Given the description of an element on the screen output the (x, y) to click on. 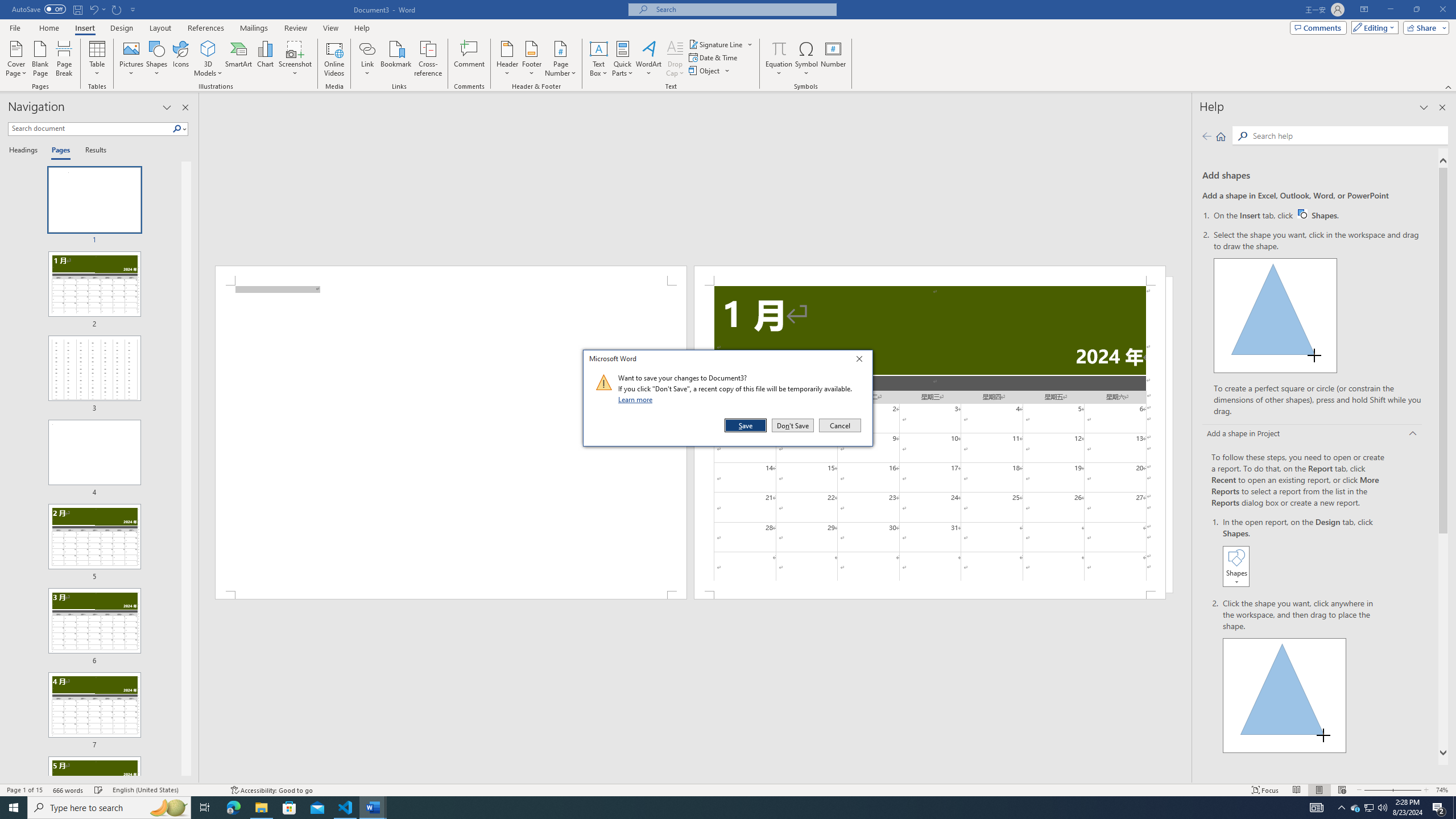
Quick Parts (1355, 807)
Pictures (622, 58)
Running applications (131, 58)
Add a shape in Project (717, 807)
Cover Page (1312, 434)
In the open report, on the Design tab, click Shapes. (16, 58)
Date & Time... (1304, 552)
